Given the description of an element on the screen output the (x, y) to click on. 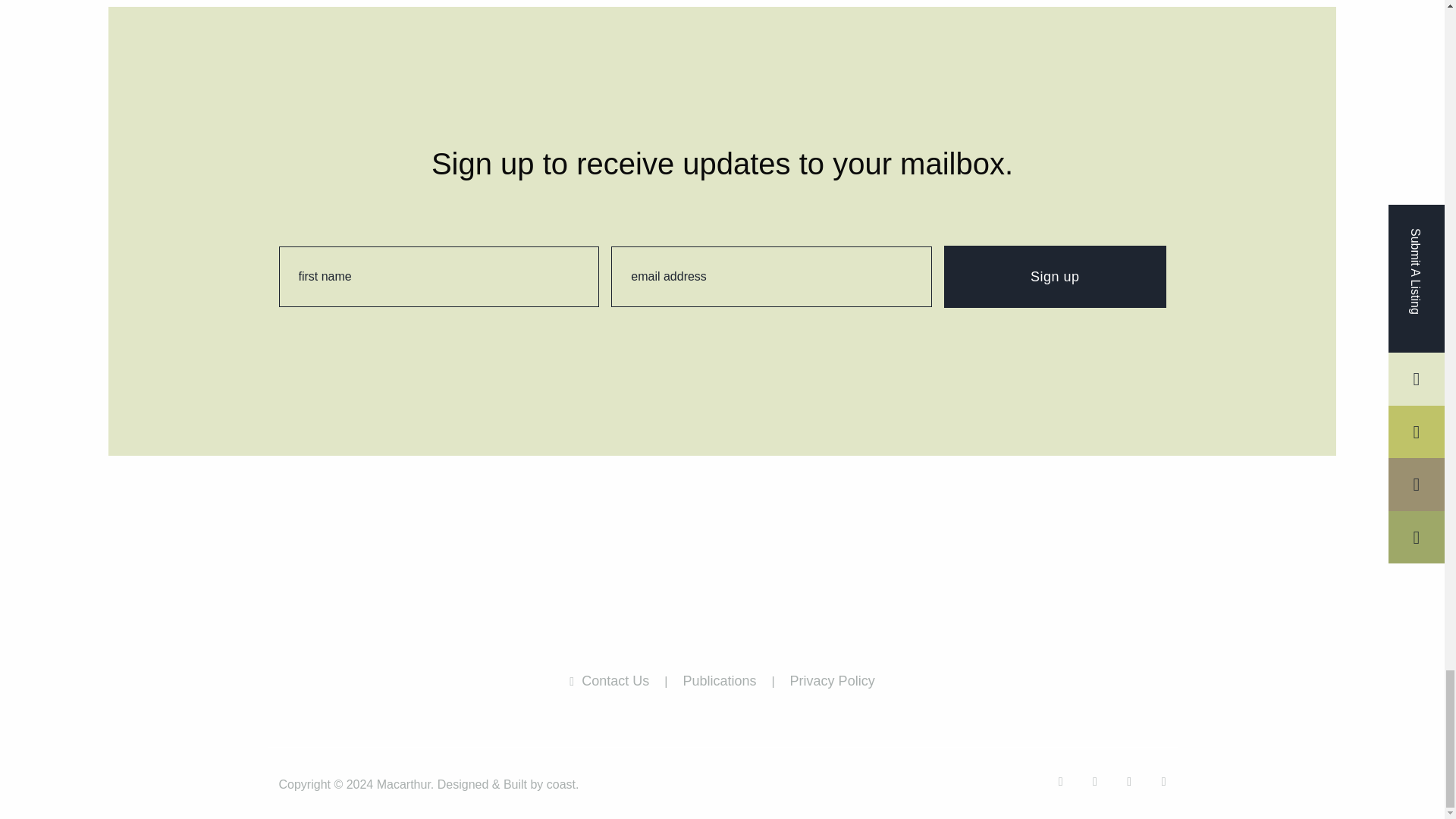
Sign up (1054, 276)
